Given the description of an element on the screen output the (x, y) to click on. 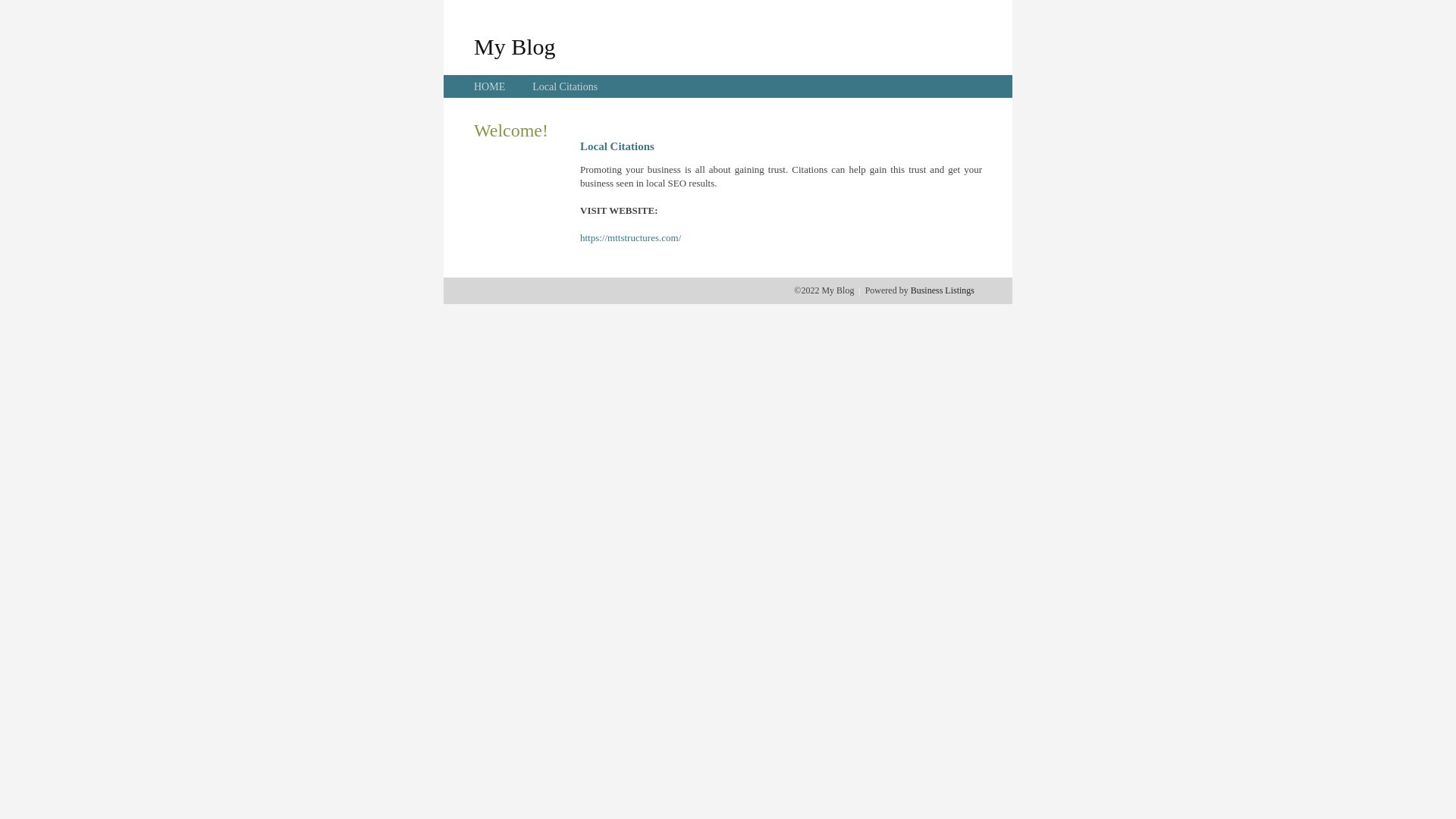
Business Listings Element type: text (942, 290)
Local Citations Element type: text (564, 86)
https://mttstructures.com/ Element type: text (630, 237)
My Blog Element type: text (514, 46)
HOME Element type: text (489, 86)
